Given the description of an element on the screen output the (x, y) to click on. 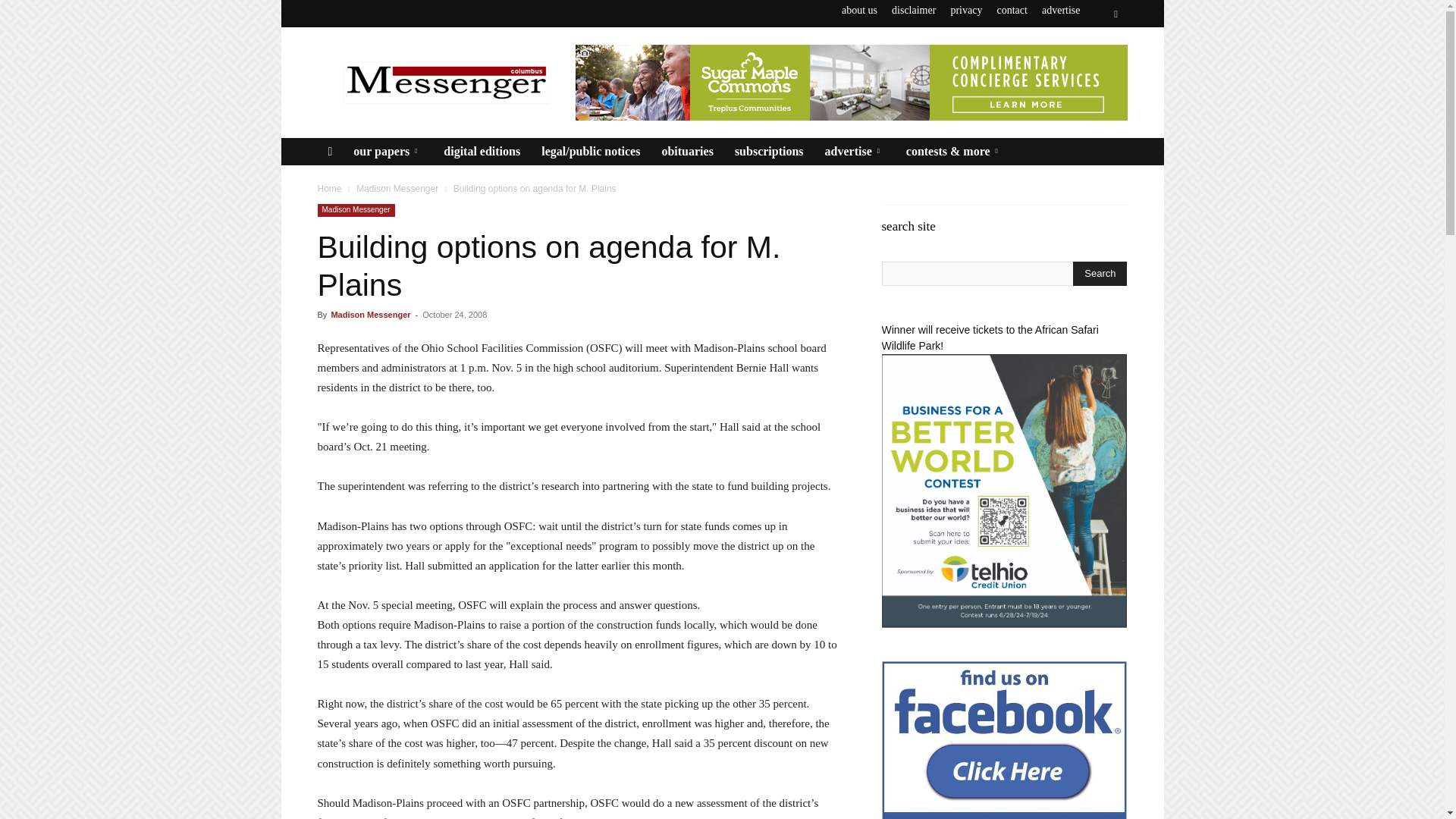
View all posts in Madison Messenger (397, 188)
about us (859, 9)
advertise (1061, 9)
Search (1099, 273)
privacy (965, 9)
Columbus Messenger - Ohios Newspaper (445, 82)
disclaimer (913, 9)
our papers (387, 151)
Search (1085, 70)
contact (1010, 9)
